Given the description of an element on the screen output the (x, y) to click on. 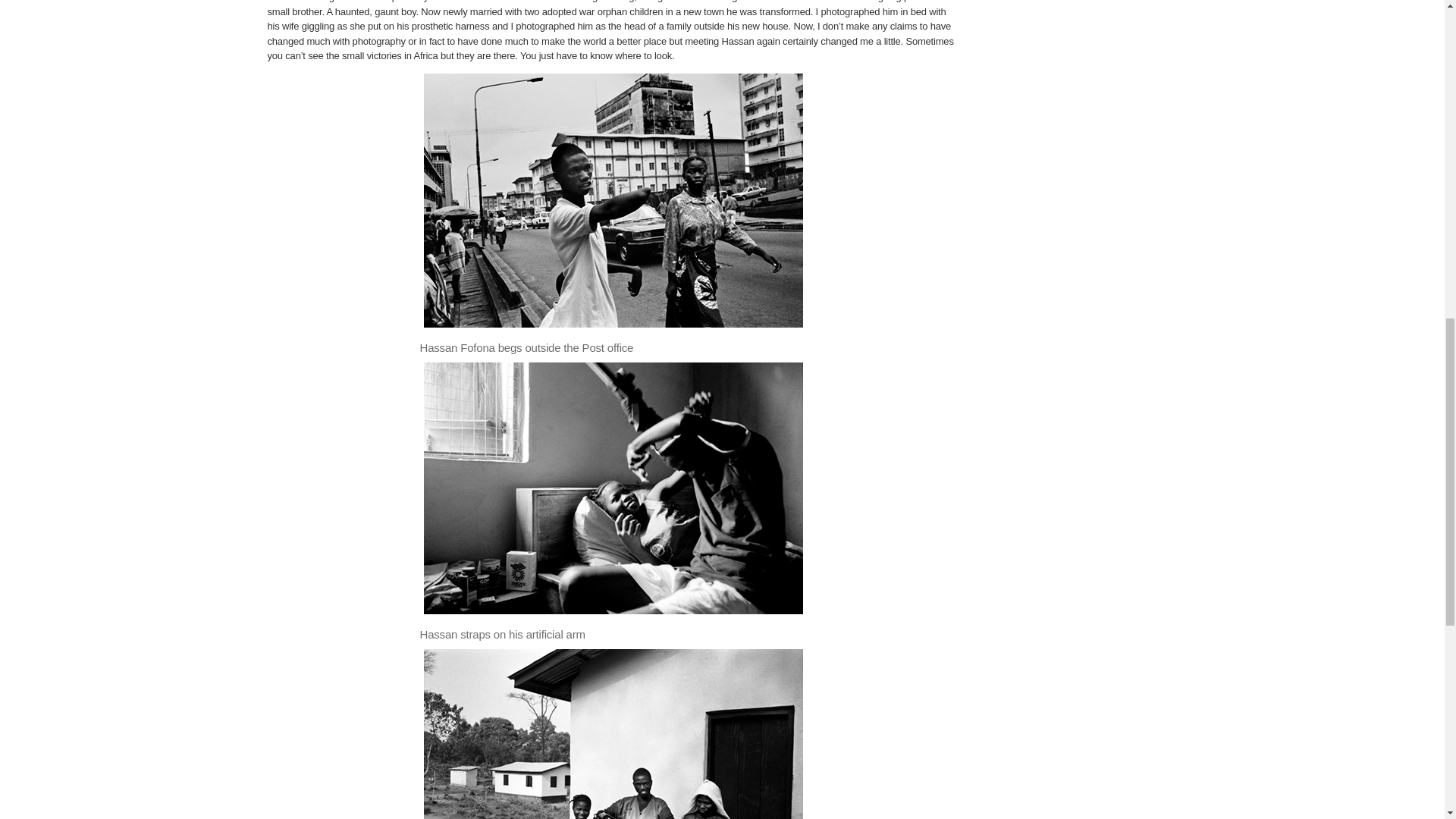
Sierra Leone - Makeni - Hassan straps on his artificial arm (612, 488)
